Given the description of an element on the screen output the (x, y) to click on. 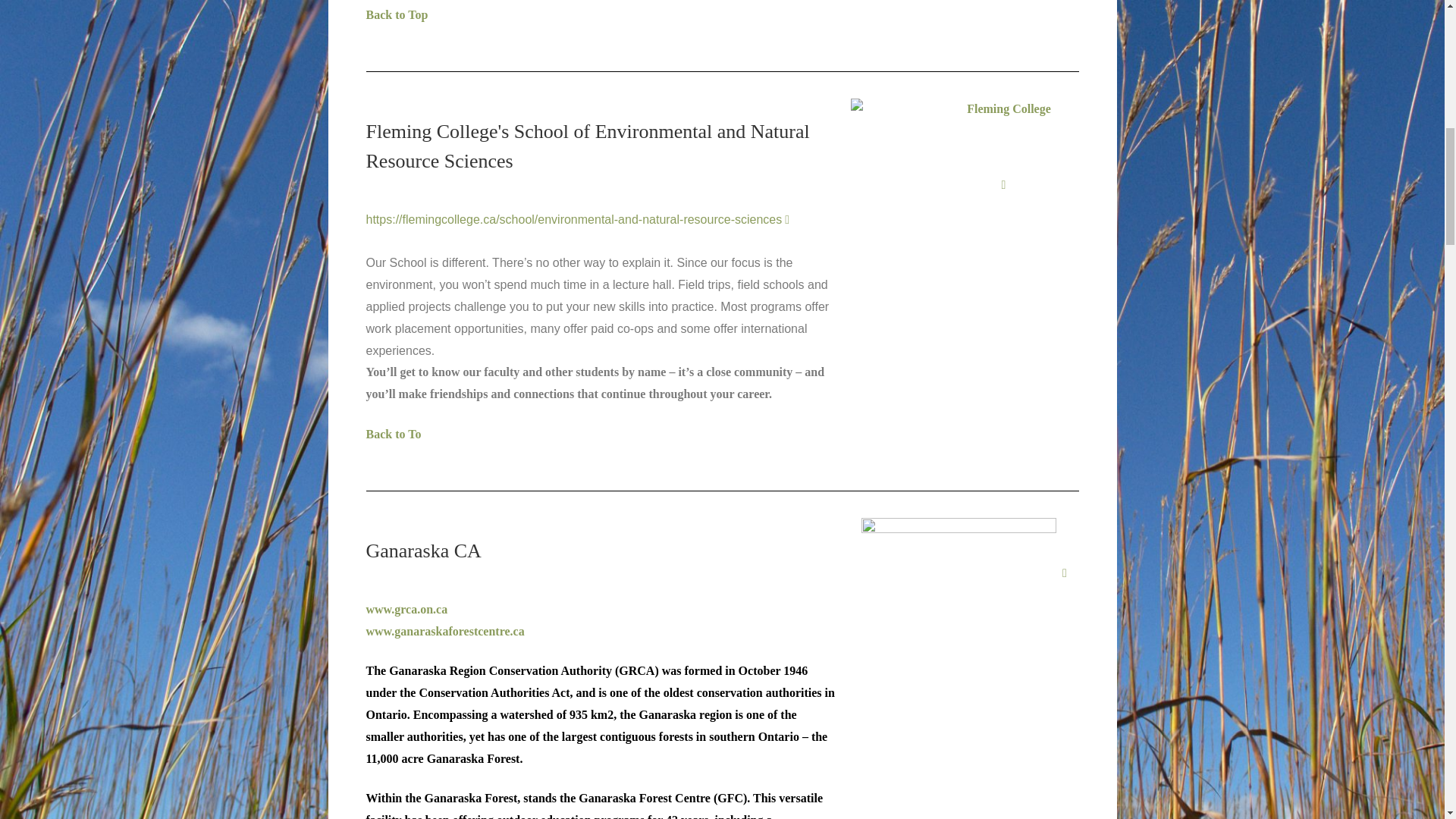
Back to Top (396, 14)
